Given the description of an element on the screen output the (x, y) to click on. 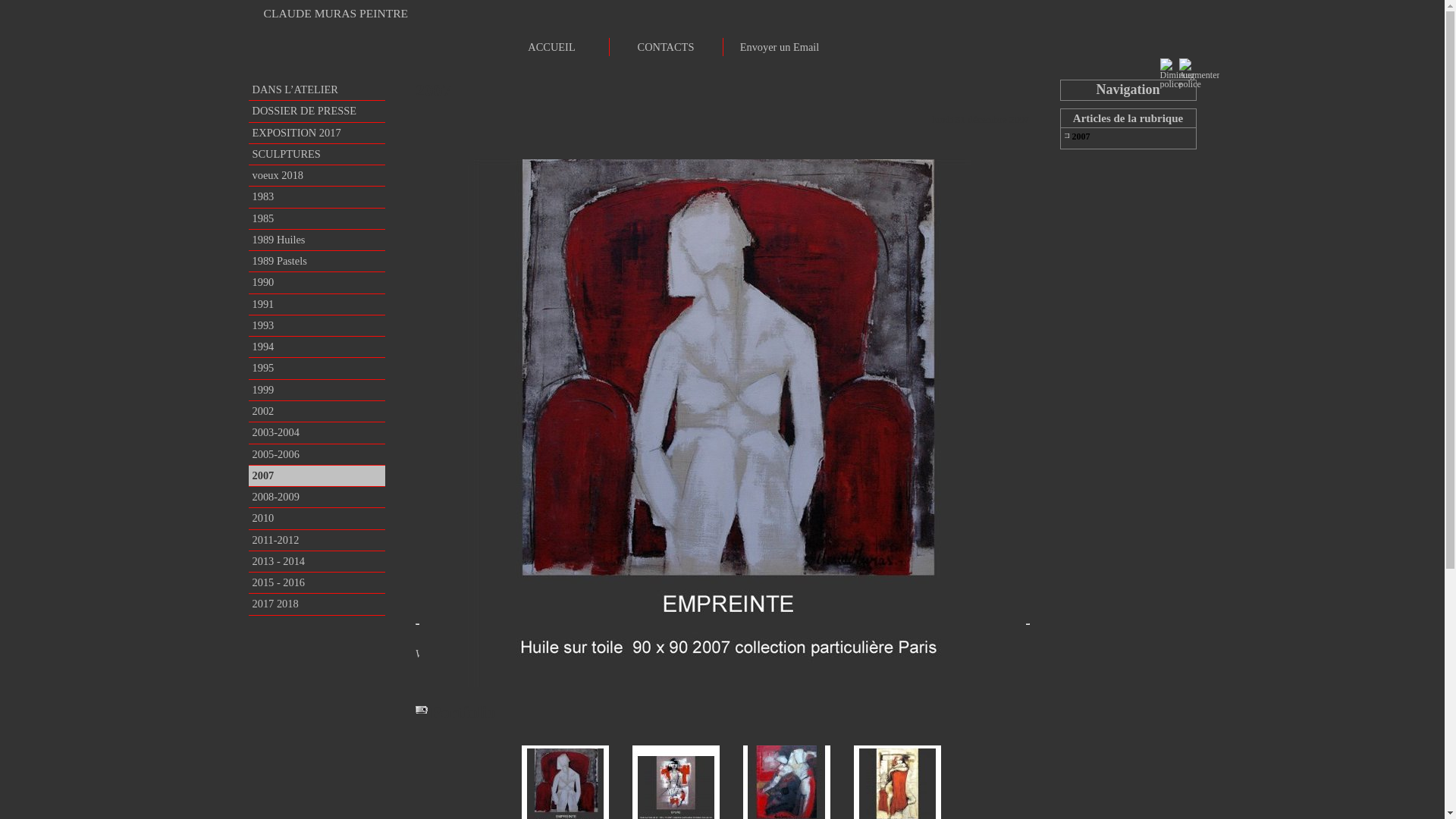
1994 Element type: text (316, 346)
DOSSIER DE PRESSE Element type: text (316, 110)
2002 Element type: text (316, 411)
Diminuer police Element type: hover (1165, 64)
2013 - 2014 Element type: text (316, 561)
CONTACTS Element type: text (664, 46)
2011-2012 Element type: text (316, 540)
1993 Element type: text (316, 325)
1995 Element type: text (316, 367)
SCULPTURES Element type: text (316, 154)
1989 Pastels Element type: text (316, 261)
2008-2009 Element type: text (316, 496)
2010 Element type: text (316, 518)
1989 Huiles Element type: text (316, 239)
Augmenter police Element type: hover (1184, 64)
Envoyer un Email Element type: text (778, 46)
voeux 2018 Element type: text (316, 175)
EXPOSITION 2017 Element type: text (316, 132)
2007 Element type: text (316, 475)
ACCUEIL Element type: text (551, 46)
1985 Element type: text (316, 218)
1990 Element type: text (316, 282)
1983 Element type: text (316, 196)
2003-2004 Element type: text (316, 432)
2017 2018 Element type: text (316, 603)
2005-2006 Element type: text (316, 454)
1999 Element type: text (316, 389)
1991 Element type: text (316, 304)
2015 - 2016 Element type: text (316, 582)
